Given the description of an element on the screen output the (x, y) to click on. 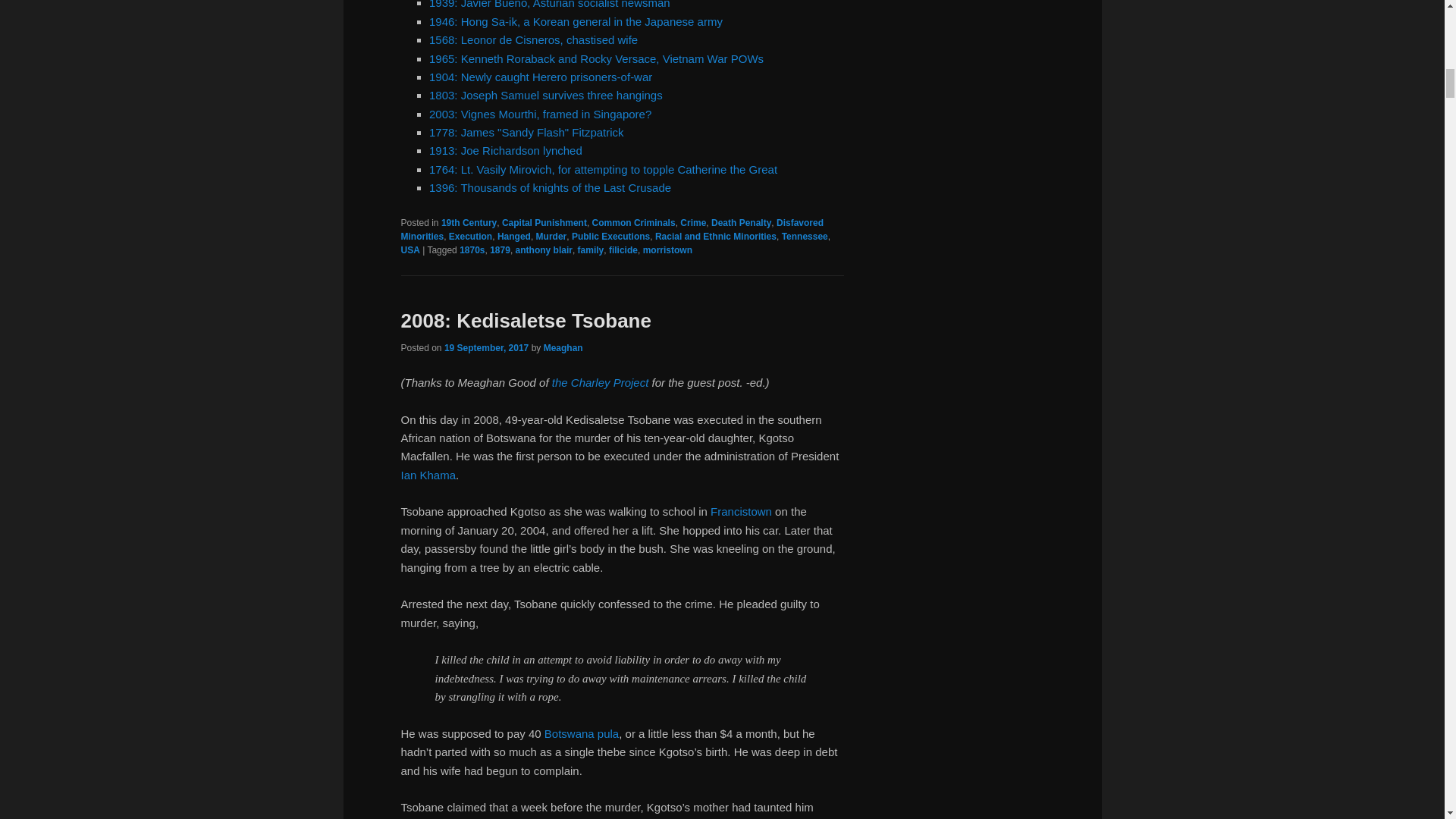
Crime (692, 222)
Execution (470, 235)
8:58 am (486, 347)
Hanged (514, 235)
1568: Leonor de Cisneros, chastised wife (533, 39)
1939: Javier Bueno, Asturian socialist newsman (549, 4)
Capital Punishment (544, 222)
19th Century (468, 222)
1913: Joe Richardson lynched (505, 150)
1778: James "Sandy Flash" Fitzpatrick (526, 132)
1965: Kenneth Roraback and Rocky Versace, Vietnam War POWs (595, 58)
View all posts by Meaghan (563, 347)
1803: Joseph Samuel survives three hangings (545, 94)
Death Penalty (741, 222)
